Given the description of an element on the screen output the (x, y) to click on. 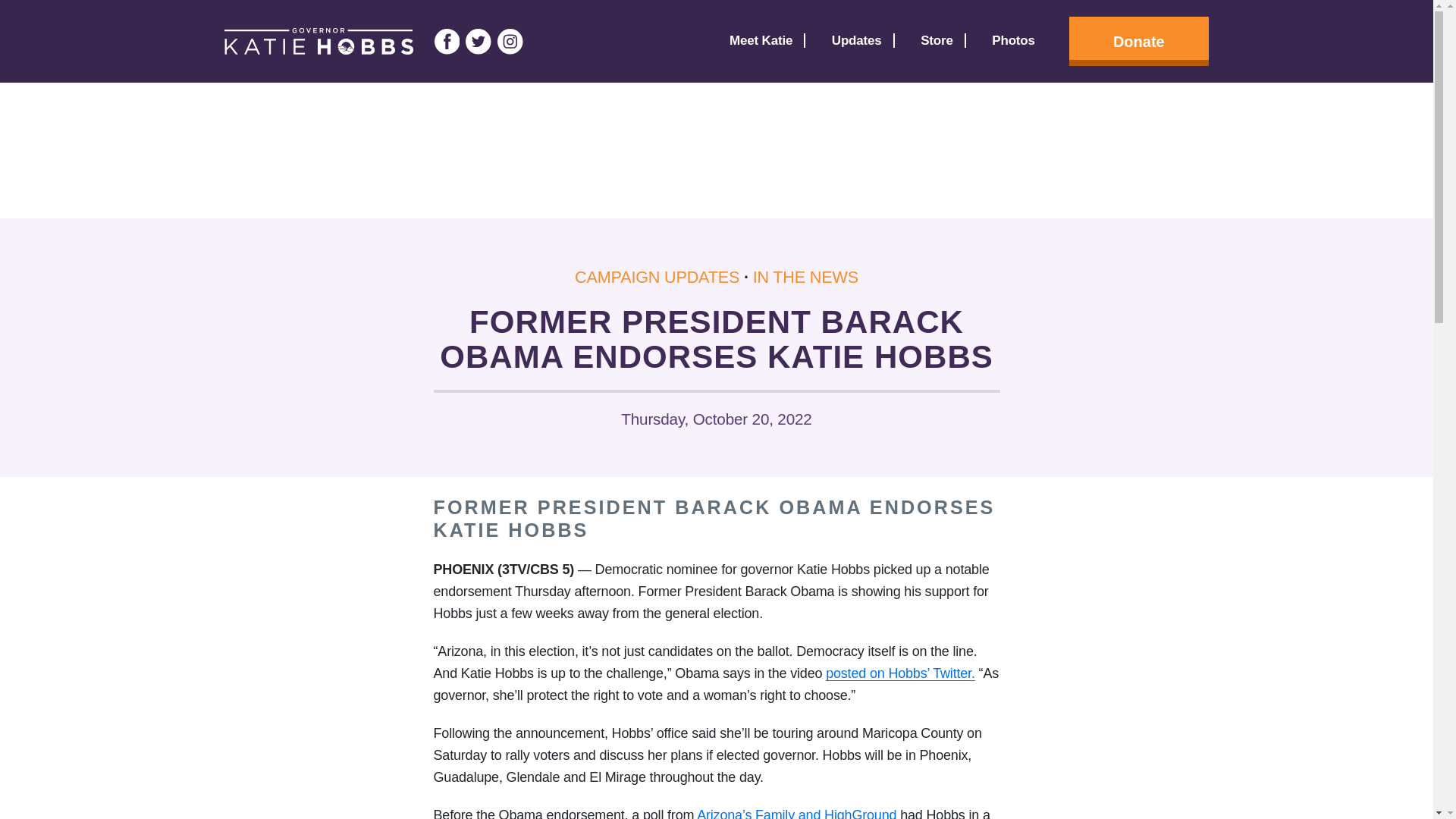
CAMPAIGN UPDATES (657, 276)
Donate (1138, 41)
Store (936, 40)
Updates (856, 40)
FORMER PRESIDENT BARACK OBAMA ENDORSES KATIE HOBBS (714, 518)
Photos (1013, 40)
Donate (1127, 41)
IN THE NEWS (805, 276)
Meet Katie (760, 40)
